Given the description of an element on the screen output the (x, y) to click on. 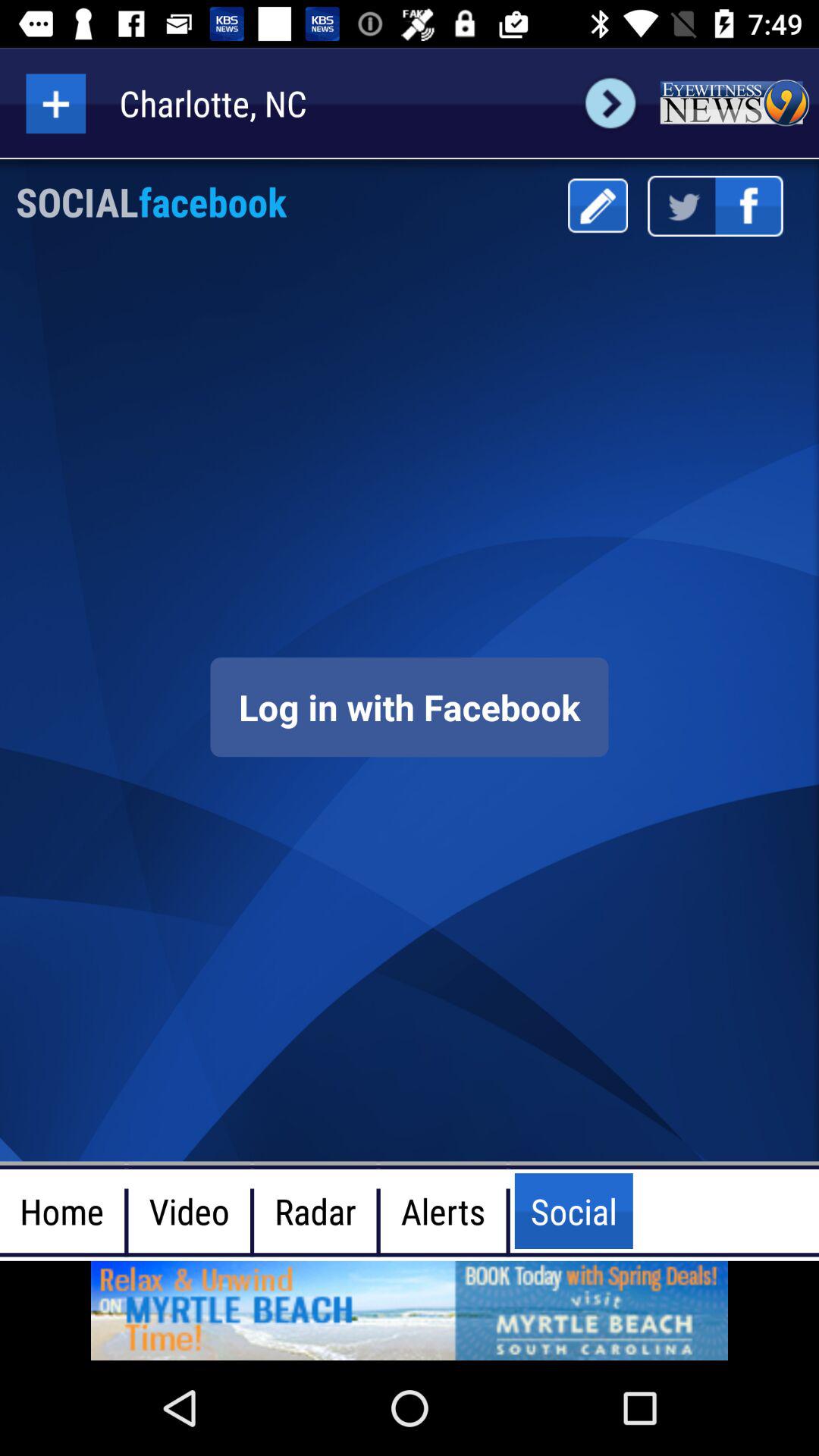
add location (55, 103)
